Given the description of an element on the screen output the (x, y) to click on. 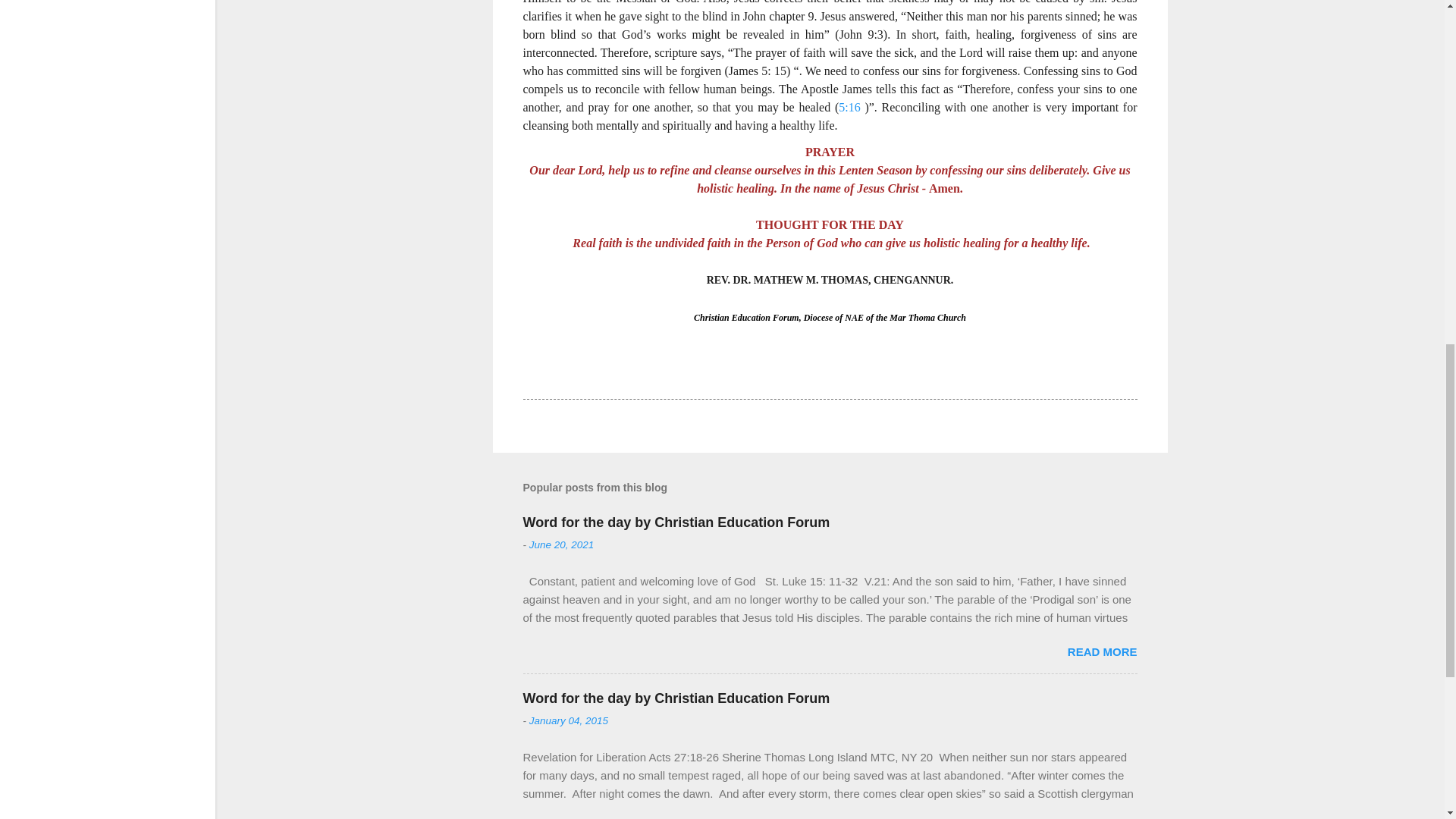
Word for the day by Christian Education Forum (675, 522)
READ MORE (1102, 651)
5:16 (849, 106)
June 20, 2021 (561, 544)
Word for the day by Christian Education Forum (675, 698)
permanent link (561, 544)
January 04, 2015 (568, 720)
